Given the description of an element on the screen output the (x, y) to click on. 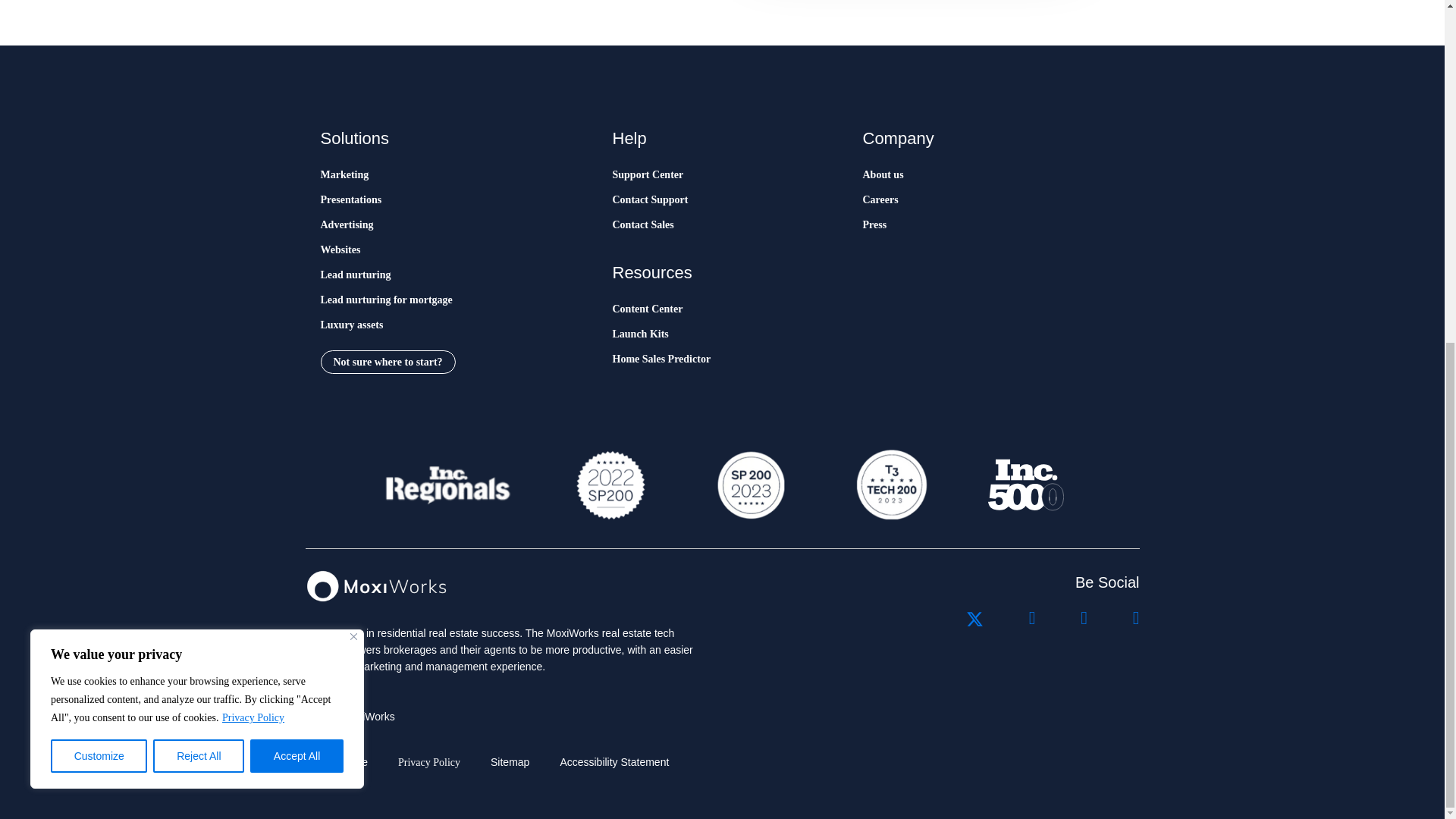
Reject All (198, 172)
T3 tech 200 2023 (890, 484)
SP 2023 (749, 484)
SP 2022 (610, 484)
Customize (98, 172)
Privacy Policy (253, 133)
Accept All (296, 172)
